Given the description of an element on the screen output the (x, y) to click on. 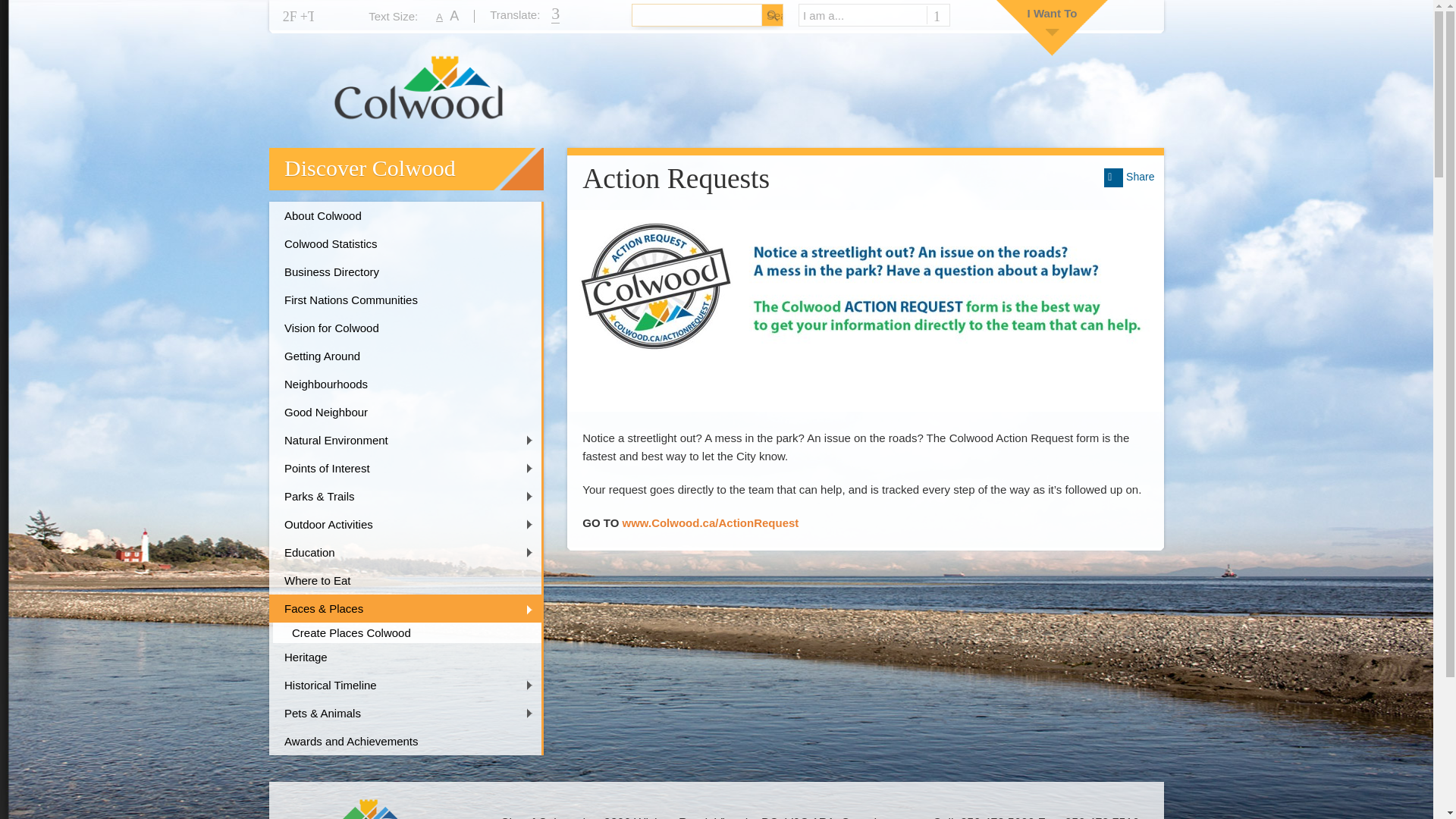
Enter the terms you wish to search for. (684, 14)
Twitter (306, 16)
Search (772, 14)
Facebook (289, 16)
